Given the description of an element on the screen output the (x, y) to click on. 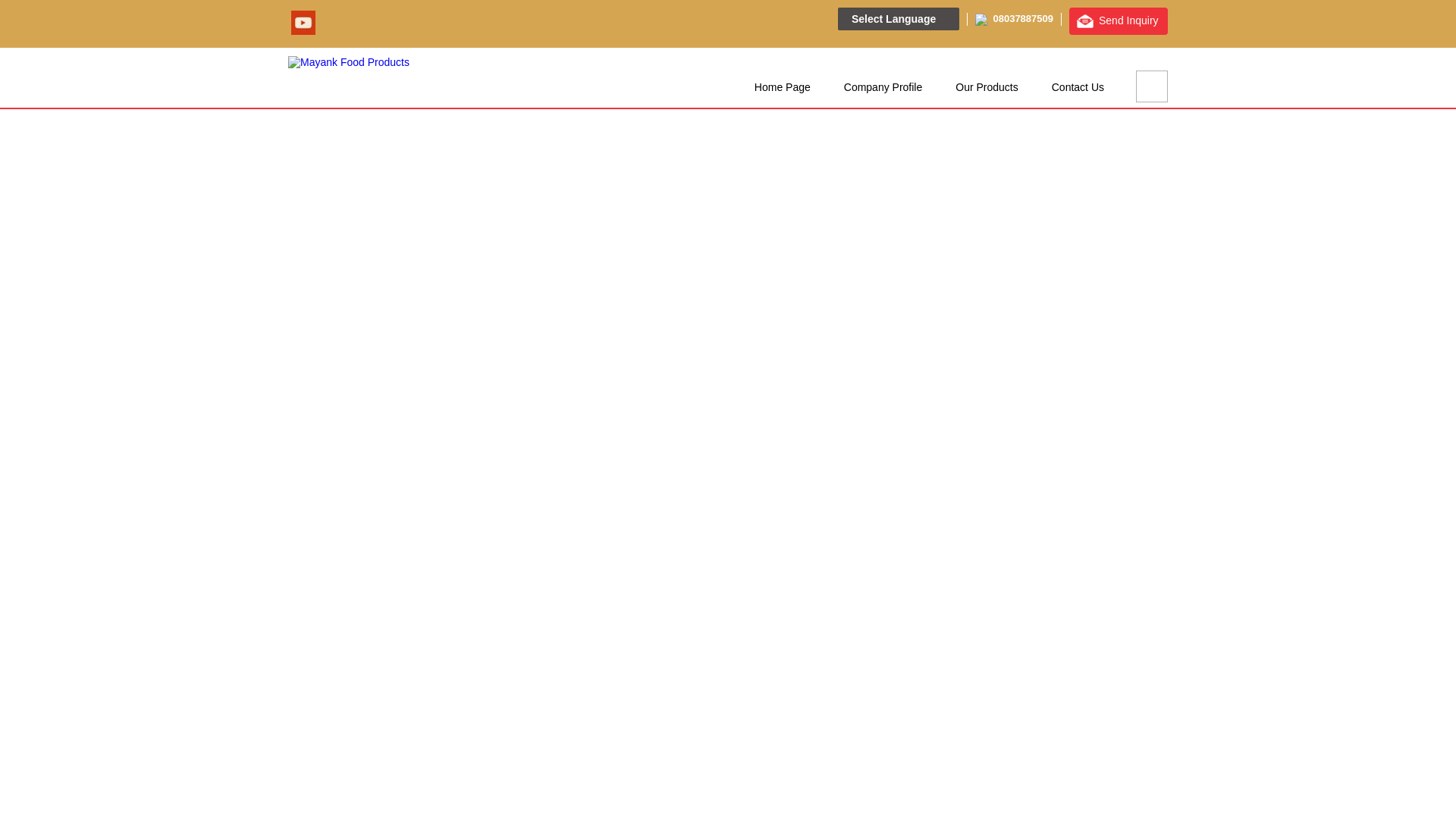
Our Products (986, 87)
Mayank Food Products (348, 61)
You Tube (303, 30)
Home Page (782, 87)
Company Profile (883, 87)
Send Inquiry (1117, 21)
Select Language (898, 18)
